Given the description of an element on the screen output the (x, y) to click on. 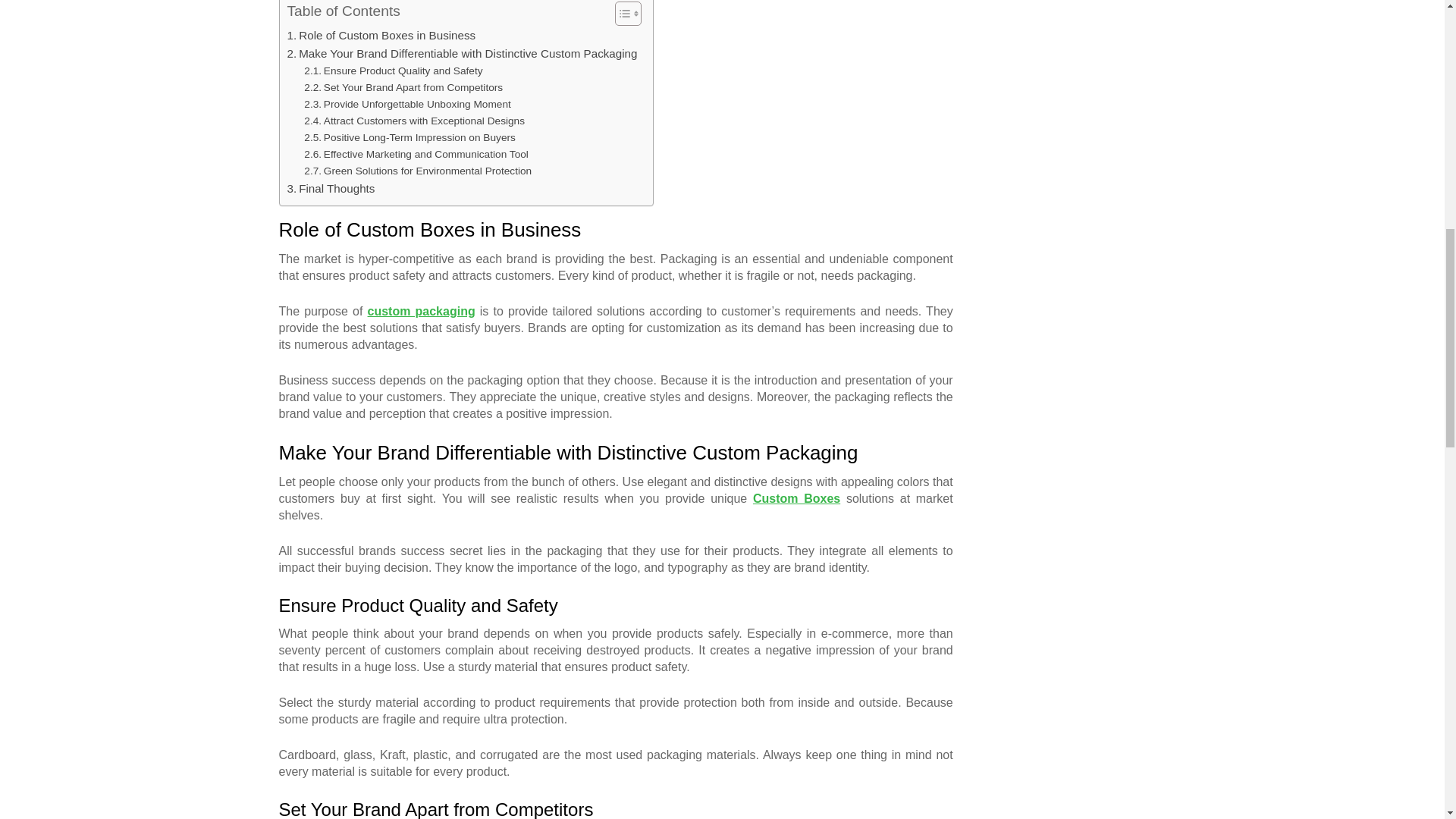
Effective Marketing and Communication Tool (416, 154)
Custom Boxes (796, 498)
Ensure Product Quality and Safety (392, 71)
Green Solutions for Environmental Protection (417, 170)
Attract Customers with Exceptional Designs (414, 121)
Role of Custom Boxes in Business (381, 35)
Provide Unforgettable Unboxing Moment (407, 104)
Green Solutions for Environmental Protection (417, 170)
Positive Long-Term Impression on Buyers (409, 137)
